Given the description of an element on the screen output the (x, y) to click on. 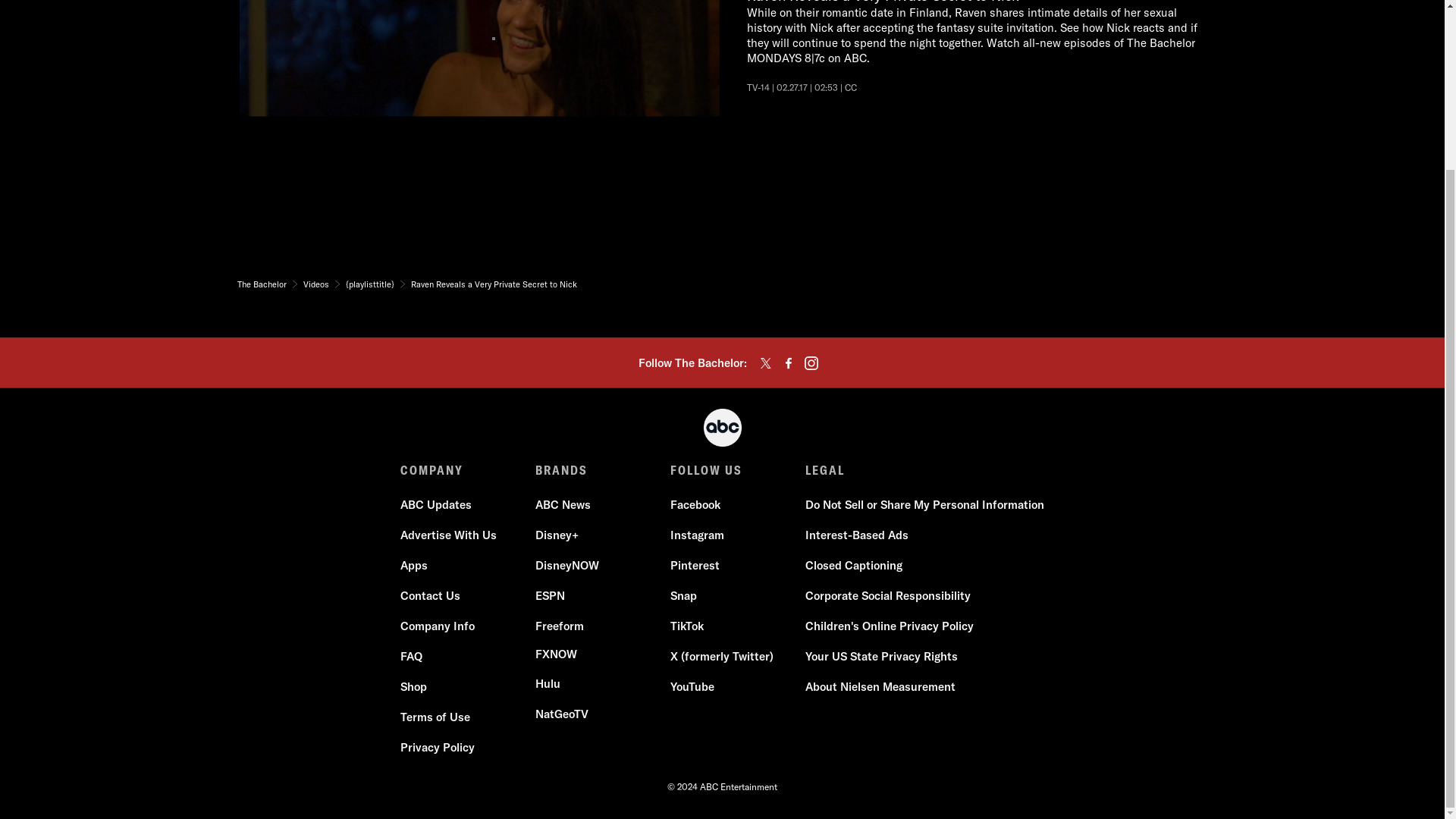
ABC News (563, 504)
instagram icon (811, 363)
FAQ (411, 656)
Shop (413, 686)
Raven Reveals a Very Private Secret to Nick (493, 284)
The Bachelor (260, 284)
ESPN (549, 595)
facebook icon (787, 363)
ABC Updates (435, 504)
Advertise With Us (448, 534)
Company Info (437, 626)
Videos (315, 284)
Apps (414, 565)
Contact Us (430, 595)
Terms of Use (435, 717)
